Given the description of an element on the screen output the (x, y) to click on. 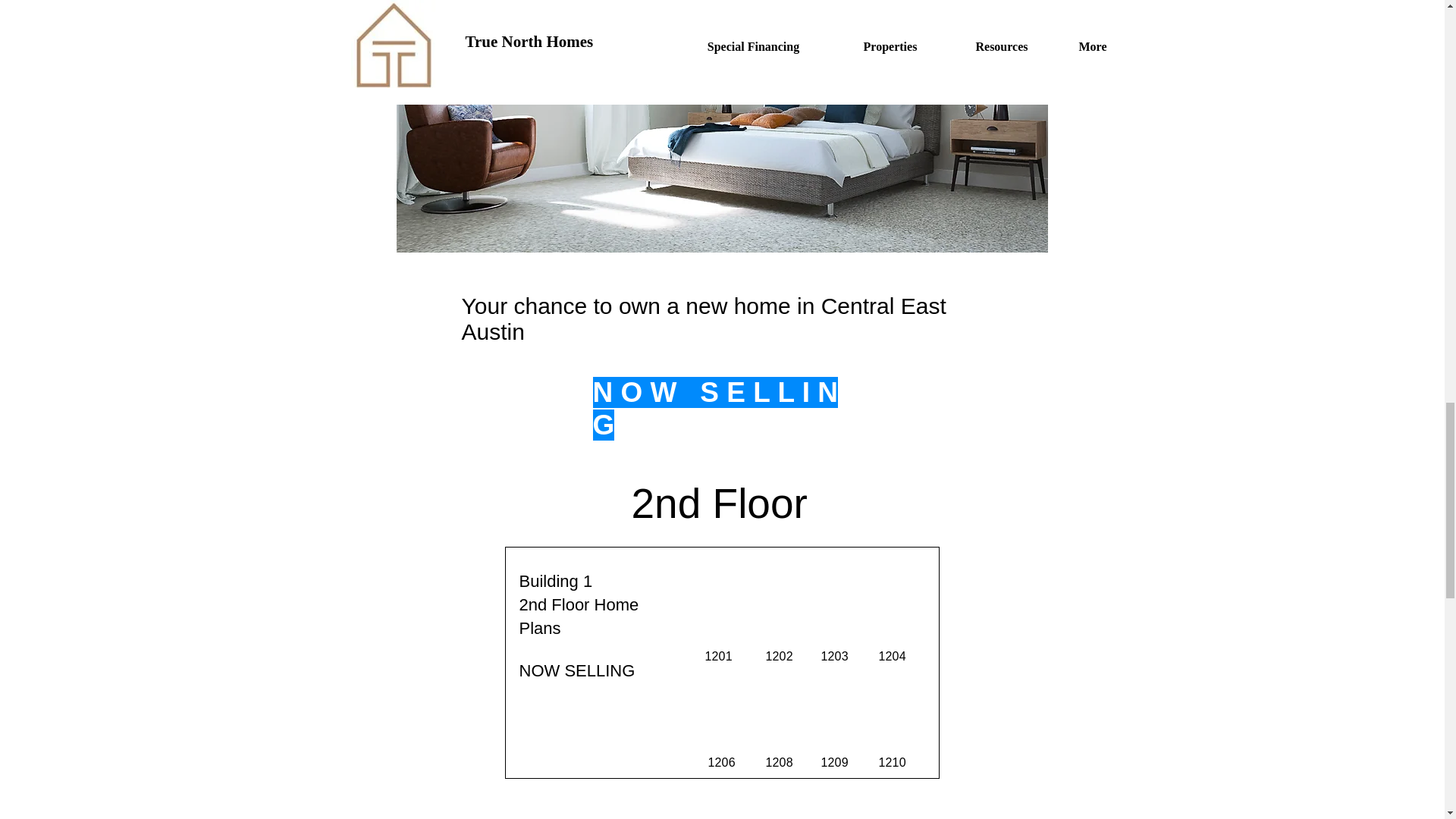
EG 1201 Floor Plan.pdf (719, 598)
EG 1203 Floor Plan.pdf (836, 598)
EG 1206 Floor Plan.pdf (719, 727)
EG 1209 Floor Plan.pdf (836, 727)
EG 1210 Floor Plan.pdf (894, 727)
EG 1208 Floor Plan.pdf (780, 727)
EG 1204 Floor Plan.pdf (894, 598)
EG 1202 Floor Plan.pdf (780, 598)
